Given the description of an element on the screen output the (x, y) to click on. 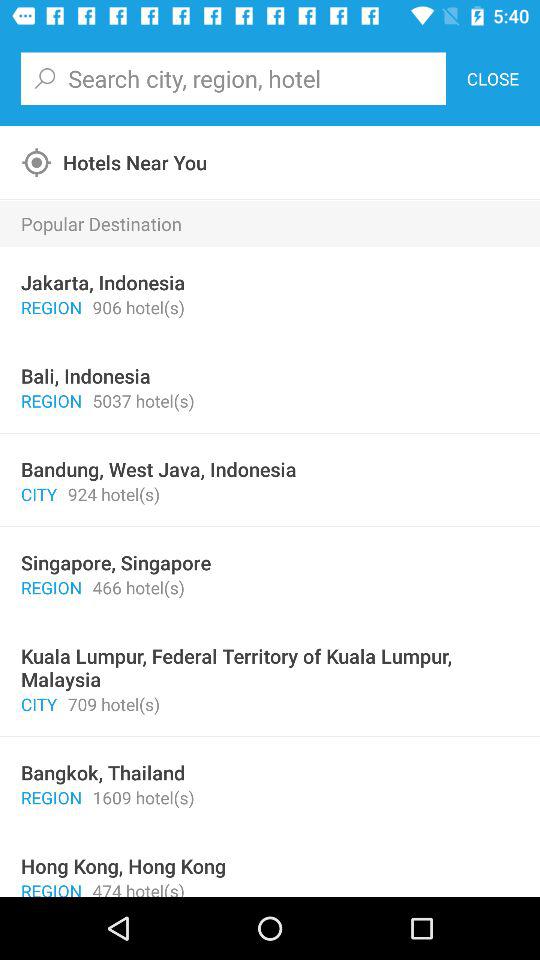
search field (233, 78)
